Given the description of an element on the screen output the (x, y) to click on. 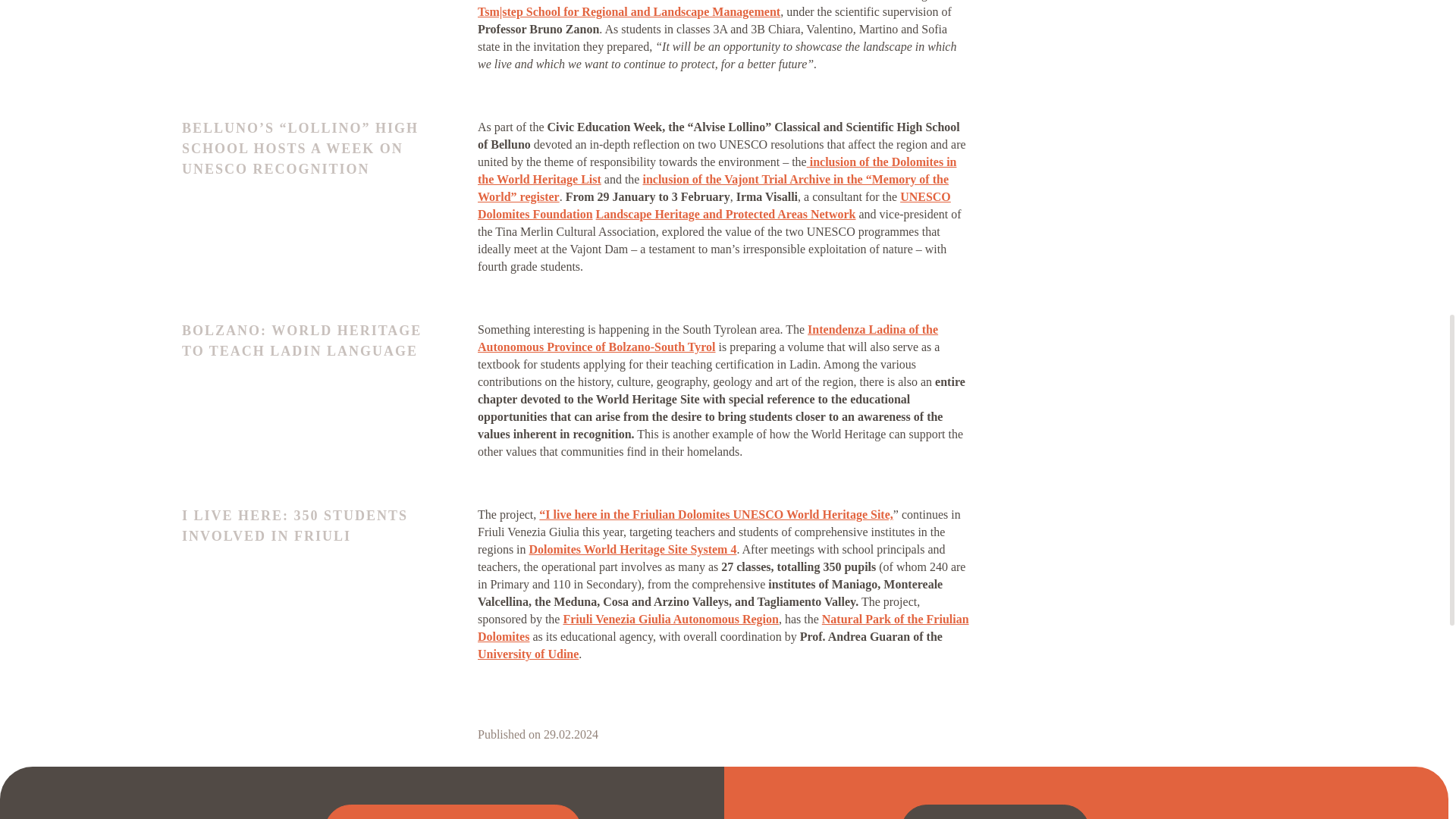
inclusion of the Dolomites in the World Heritage List (716, 170)
